Given the description of an element on the screen output the (x, y) to click on. 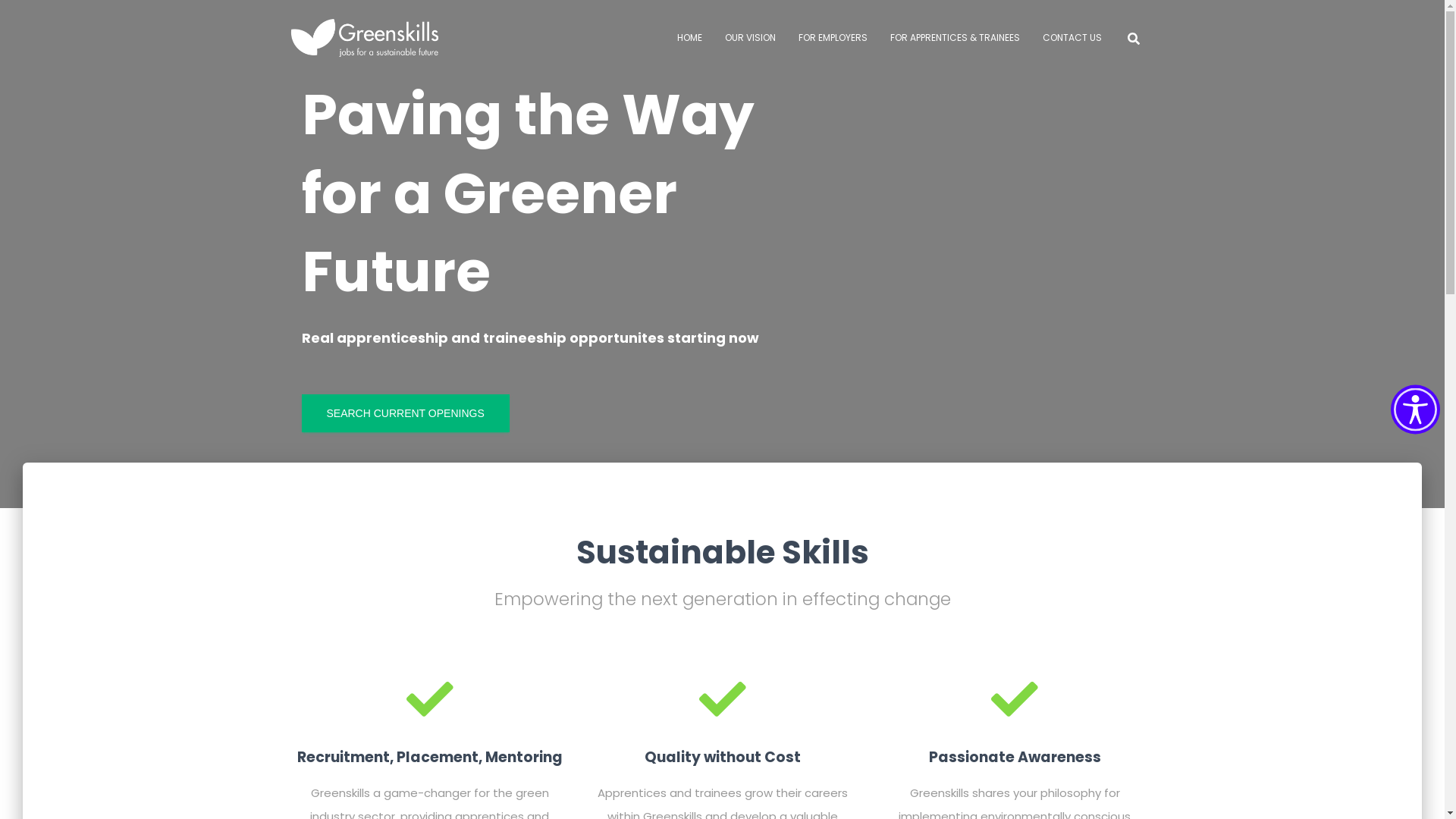
Recruitment, Placement, Mentoring Element type: text (429, 722)
GreenSkills Element type: hover (364, 37)
FOR APPRENTICES & TRAINEES Element type: text (954, 37)
Passionate Awareness Element type: text (1014, 722)
OUR VISION Element type: text (749, 37)
Search Element type: text (17, 21)
HOME Element type: text (689, 37)
FOR EMPLOYERS Element type: text (832, 37)
CONTACT US Element type: text (1072, 37)
Quality without Cost Element type: text (721, 722)
SEARCH CURRENT OPENINGS Element type: text (405, 413)
